Given the description of an element on the screen output the (x, y) to click on. 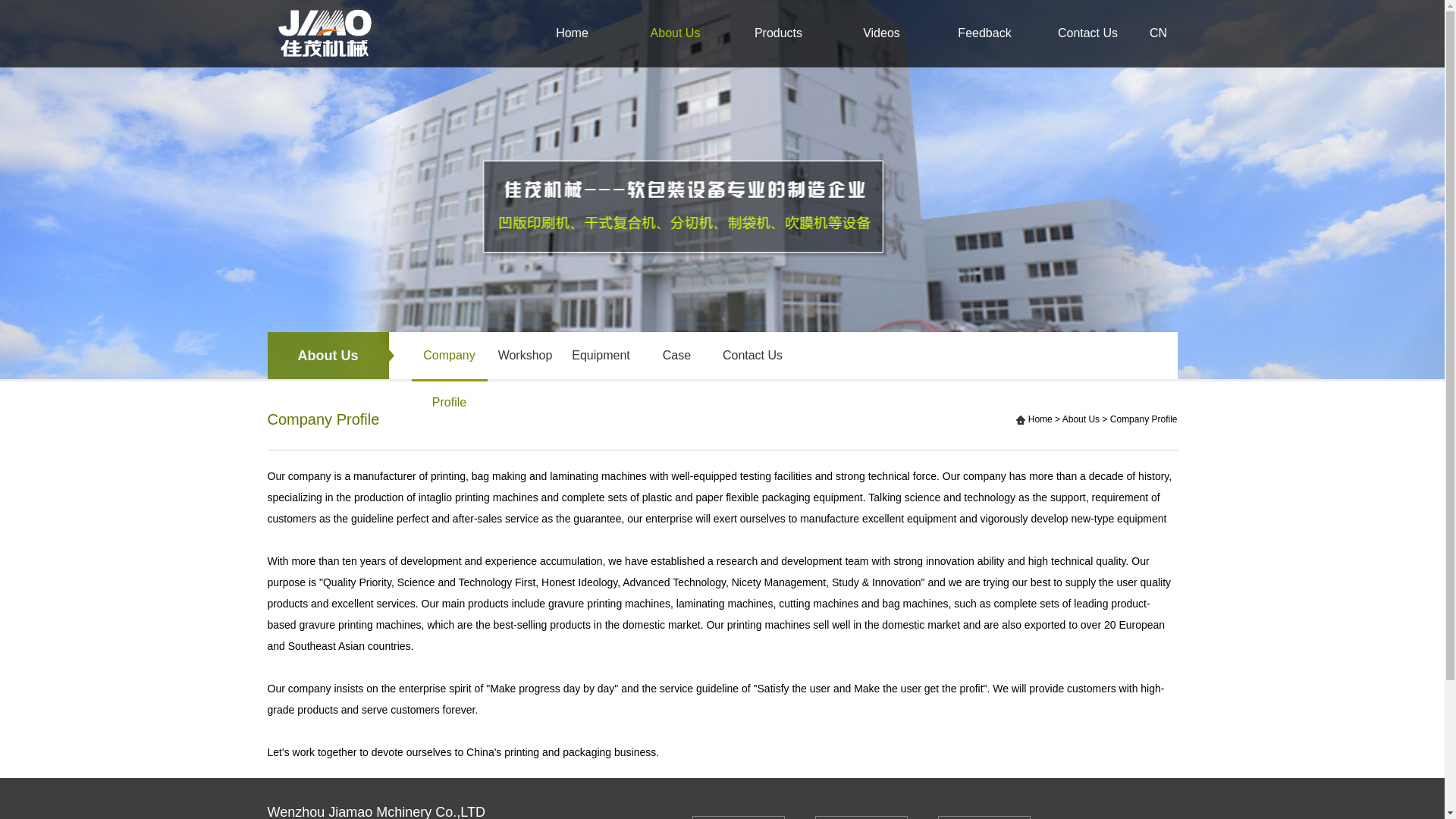
Videos (983, 817)
About Us (674, 33)
Contact Us (1086, 33)
Workshop (524, 355)
Products (861, 817)
Products (777, 33)
Videos (881, 33)
Home (1039, 419)
Home (571, 33)
About Us (1080, 419)
